Given the description of an element on the screen output the (x, y) to click on. 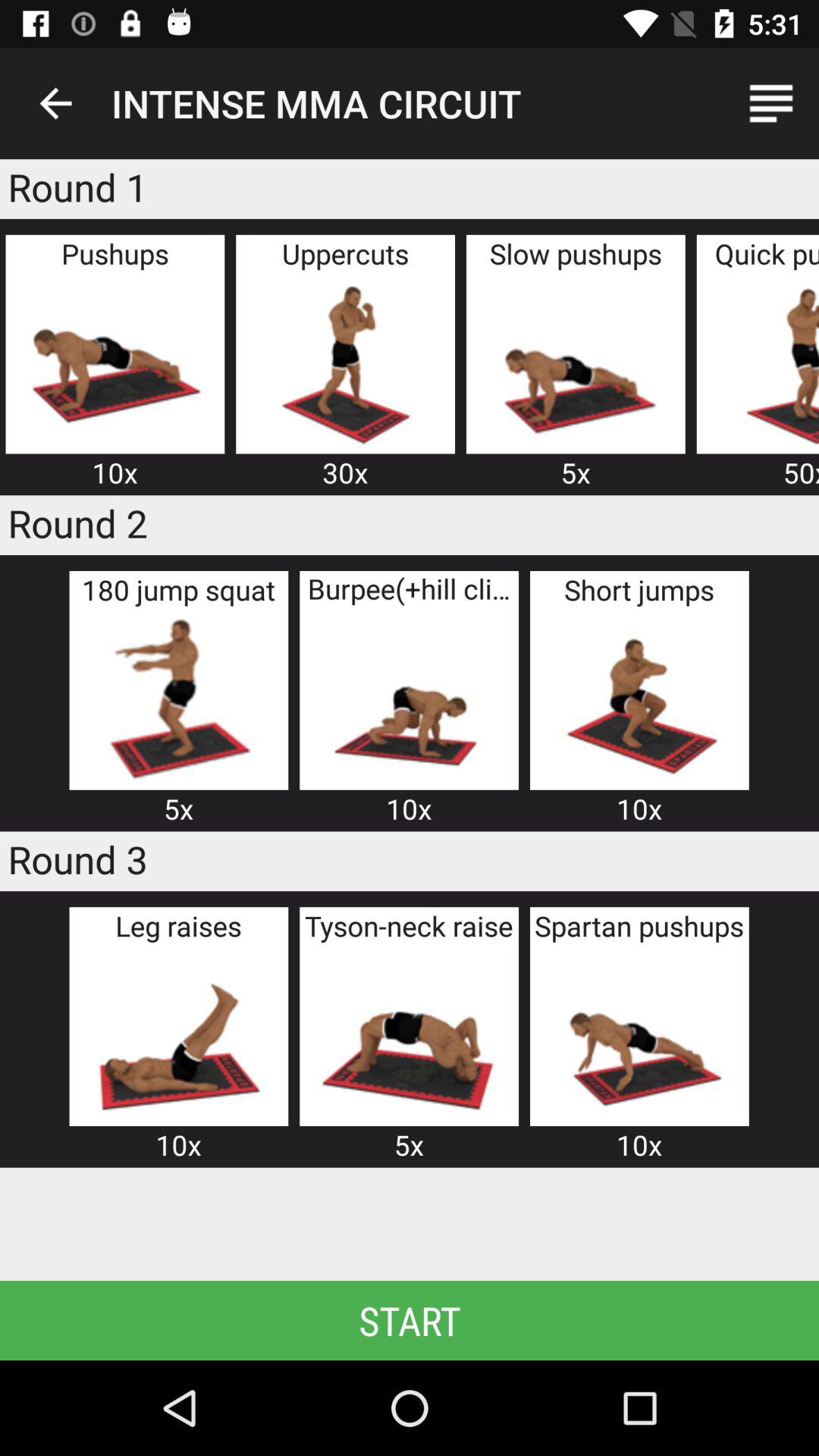
select track (178, 1034)
